Given the description of an element on the screen output the (x, y) to click on. 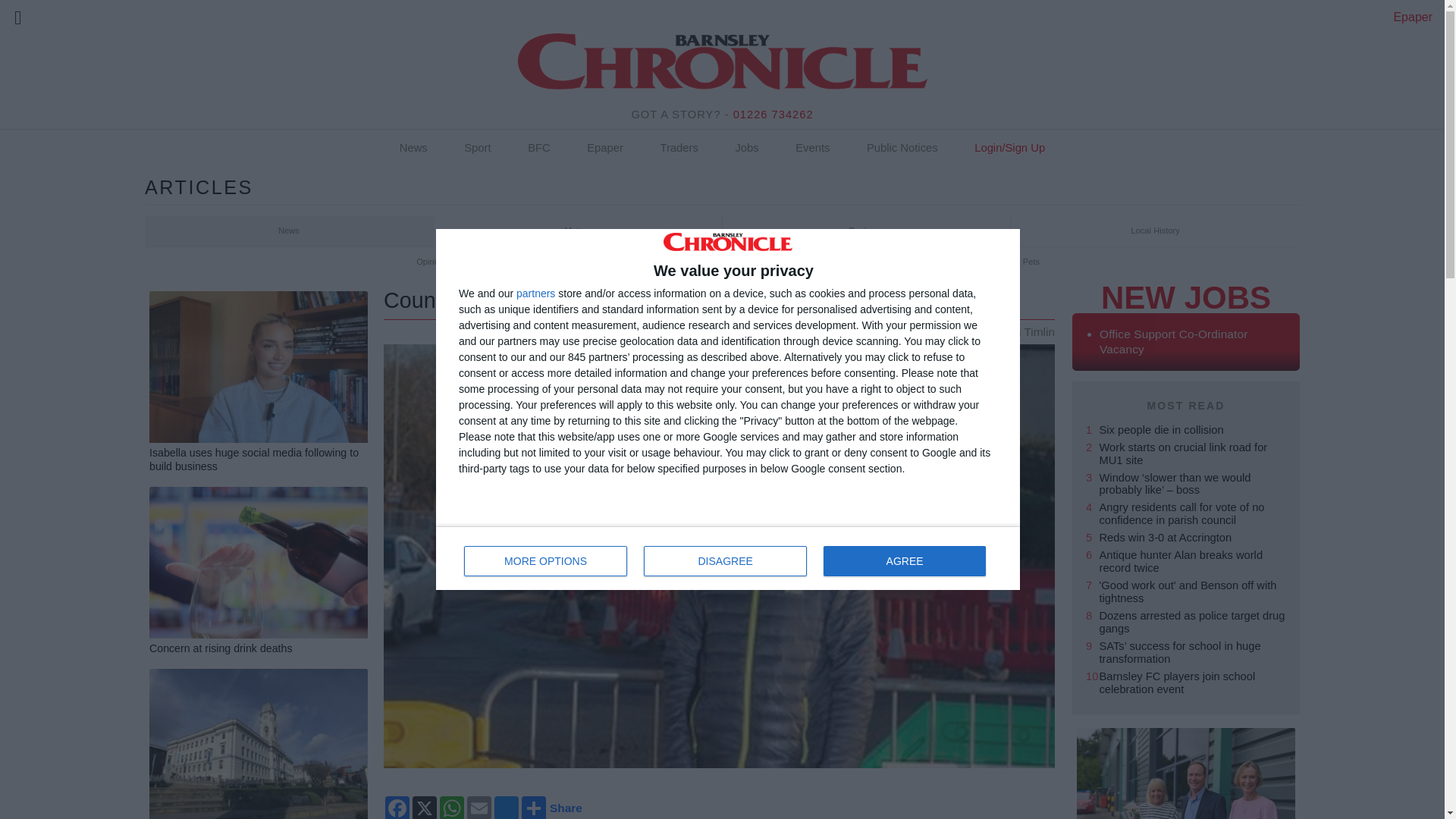
Epaper (1412, 16)
Public Notices (902, 148)
Jobs (745, 148)
News (413, 148)
DISAGREE (724, 561)
News (288, 231)
AGREE (904, 561)
Traders (678, 148)
Events (812, 148)
Epaper (604, 148)
BFC (539, 148)
Sport (477, 148)
partners (535, 293)
Motors (577, 231)
01226 734262 (773, 114)
